Given the description of an element on the screen output the (x, y) to click on. 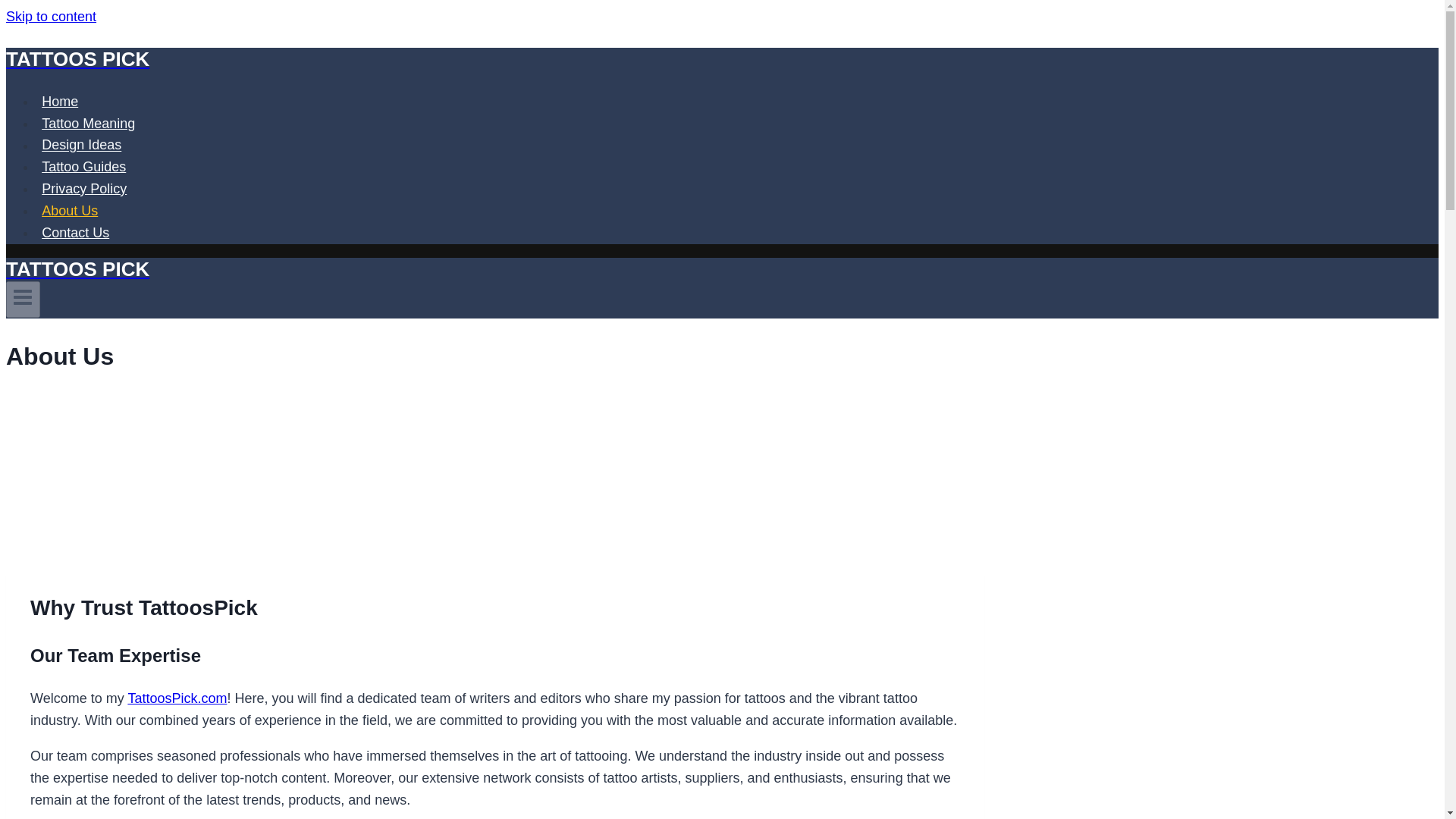
Tattoo Meaning (87, 123)
About Us (69, 210)
Privacy Policy (84, 188)
TATTOOS PICK (494, 59)
Skip to content (50, 16)
TATTOOS PICK (494, 269)
Tattoo Guides (83, 166)
Toggle Menu (22, 299)
Skip to content (50, 16)
Design Ideas (81, 144)
